Given the description of an element on the screen output the (x, y) to click on. 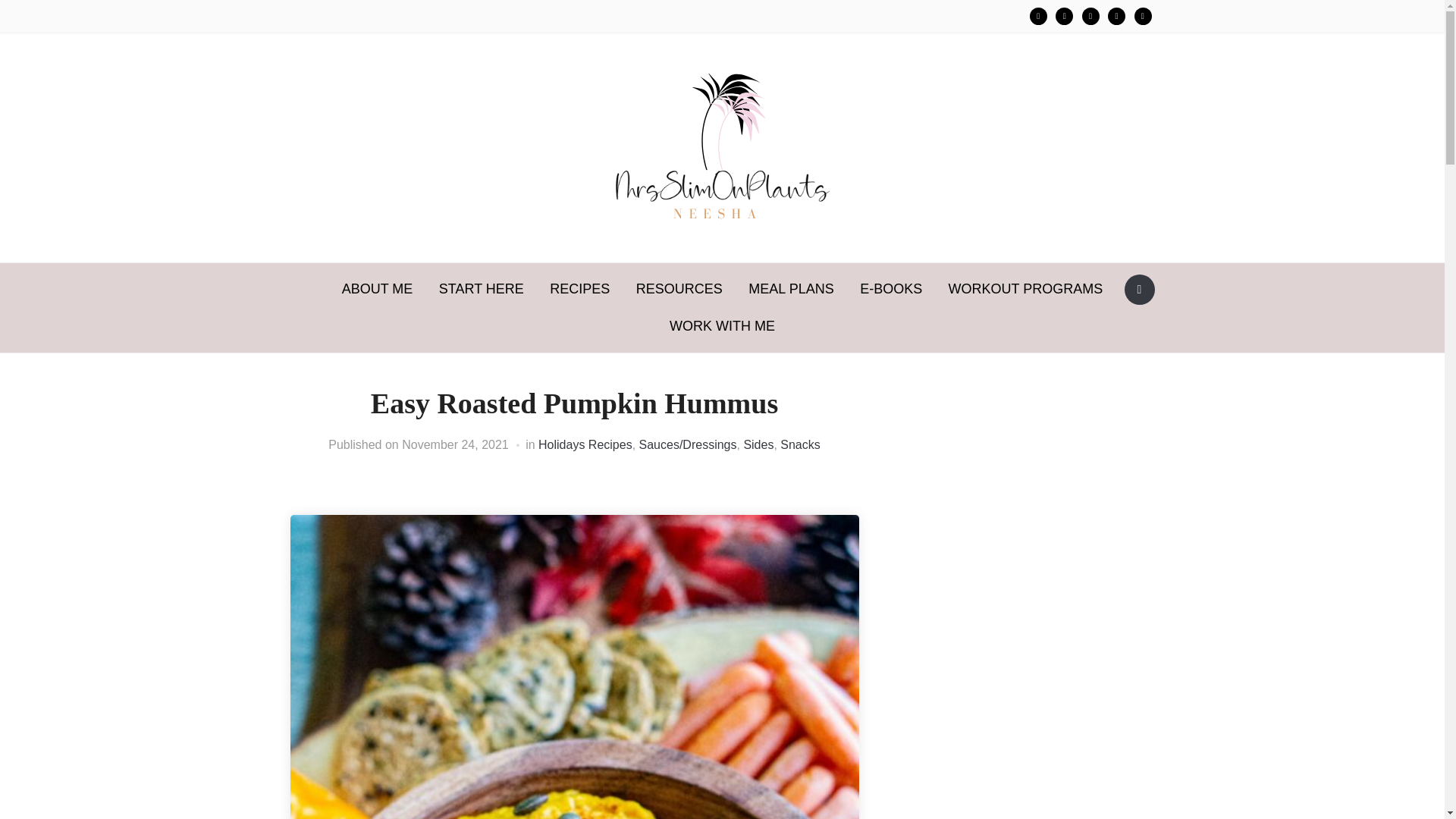
Search (1139, 289)
instagram (1037, 15)
Default Label (1142, 15)
Facebook (1037, 15)
Twitter (1064, 15)
Default Label (1090, 15)
youtube-square (1142, 15)
Default Label (1116, 15)
pinterest (1064, 15)
facebook (1116, 15)
tiktok (1090, 15)
